Given the description of an element on the screen output the (x, y) to click on. 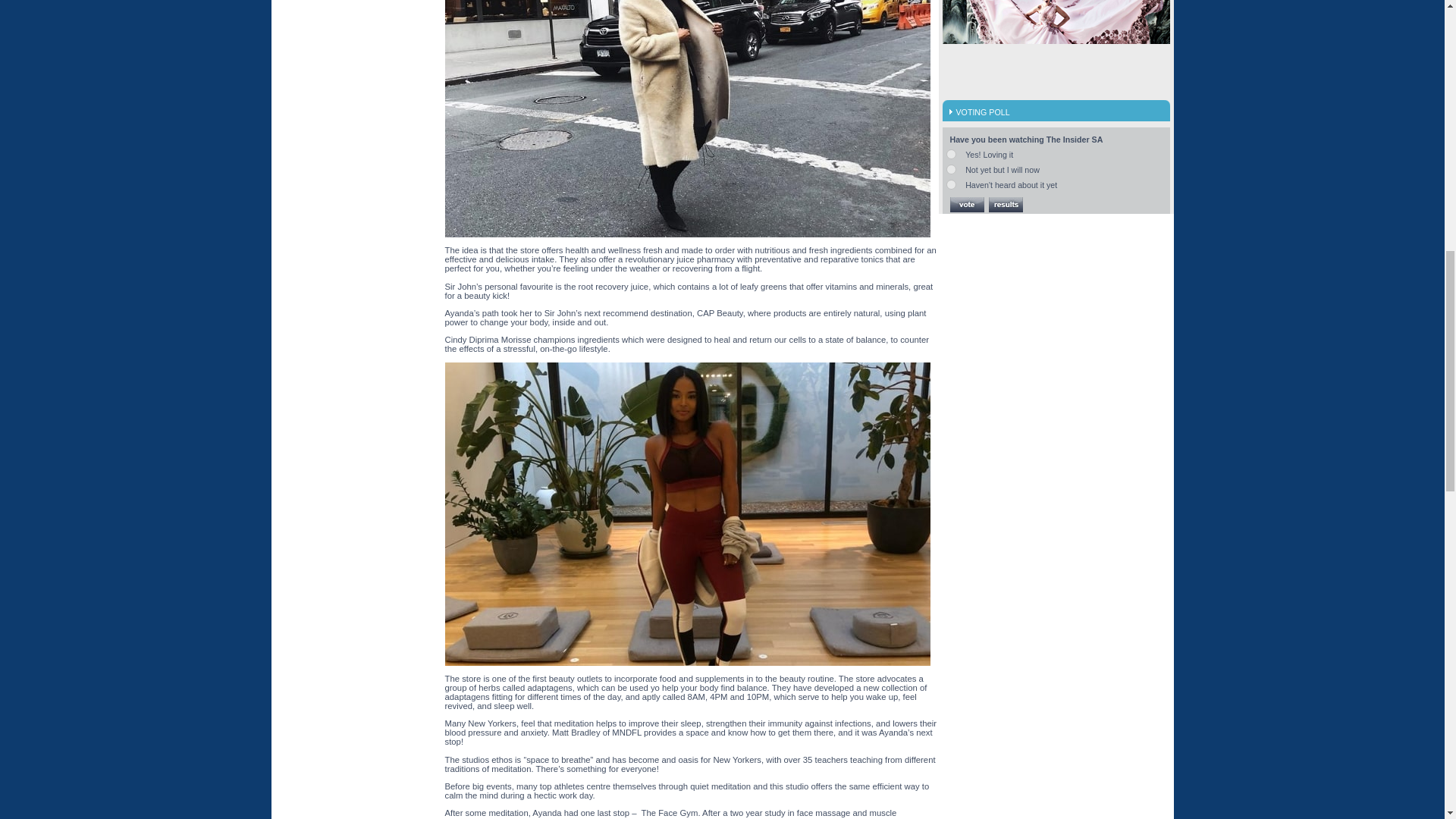
1 (951, 153)
2 (951, 169)
3 (951, 184)
